Given the description of an element on the screen output the (x, y) to click on. 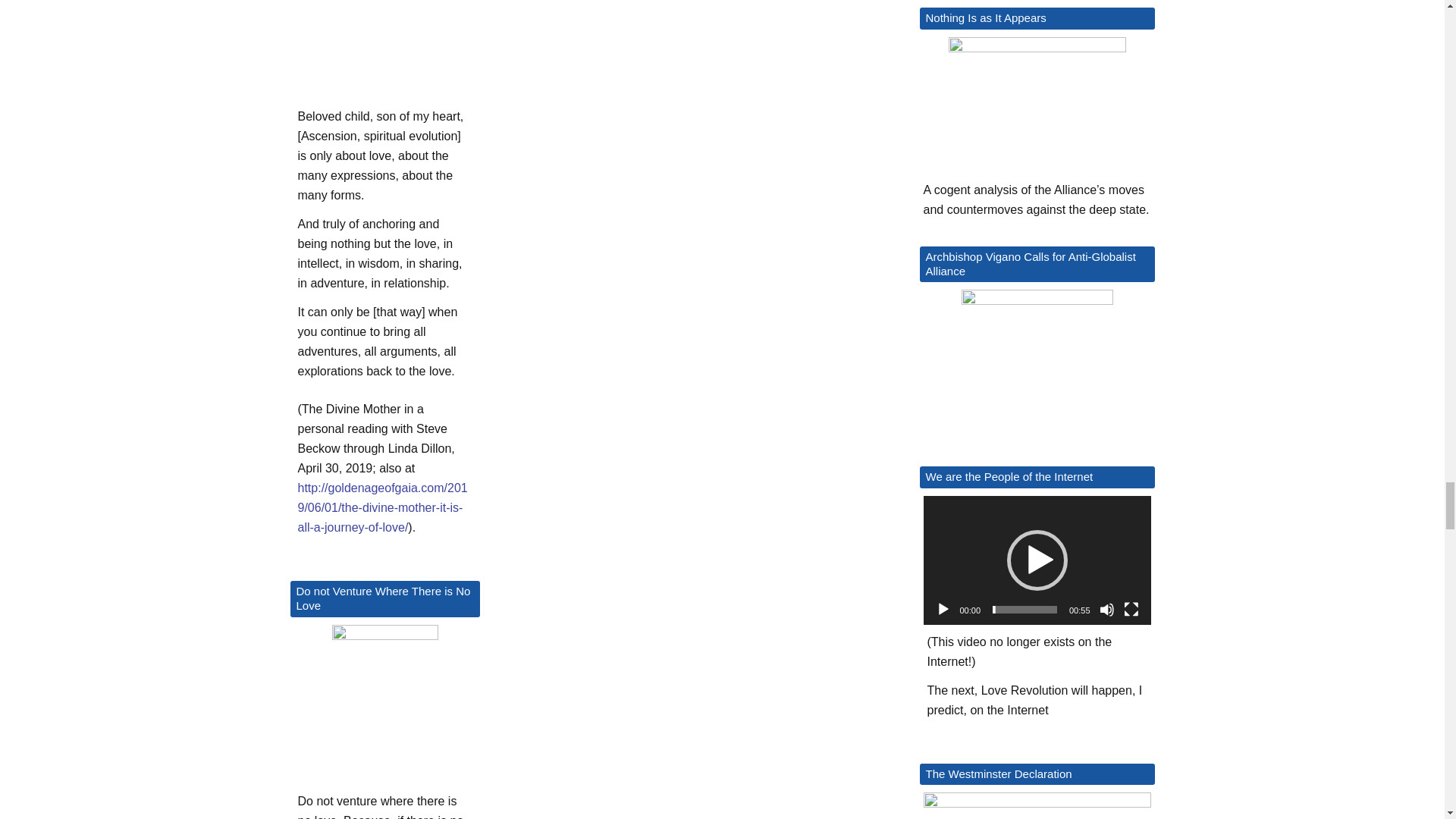
Mute (1107, 609)
Fullscreen (1131, 609)
Play (943, 609)
